Given the description of an element on the screen output the (x, y) to click on. 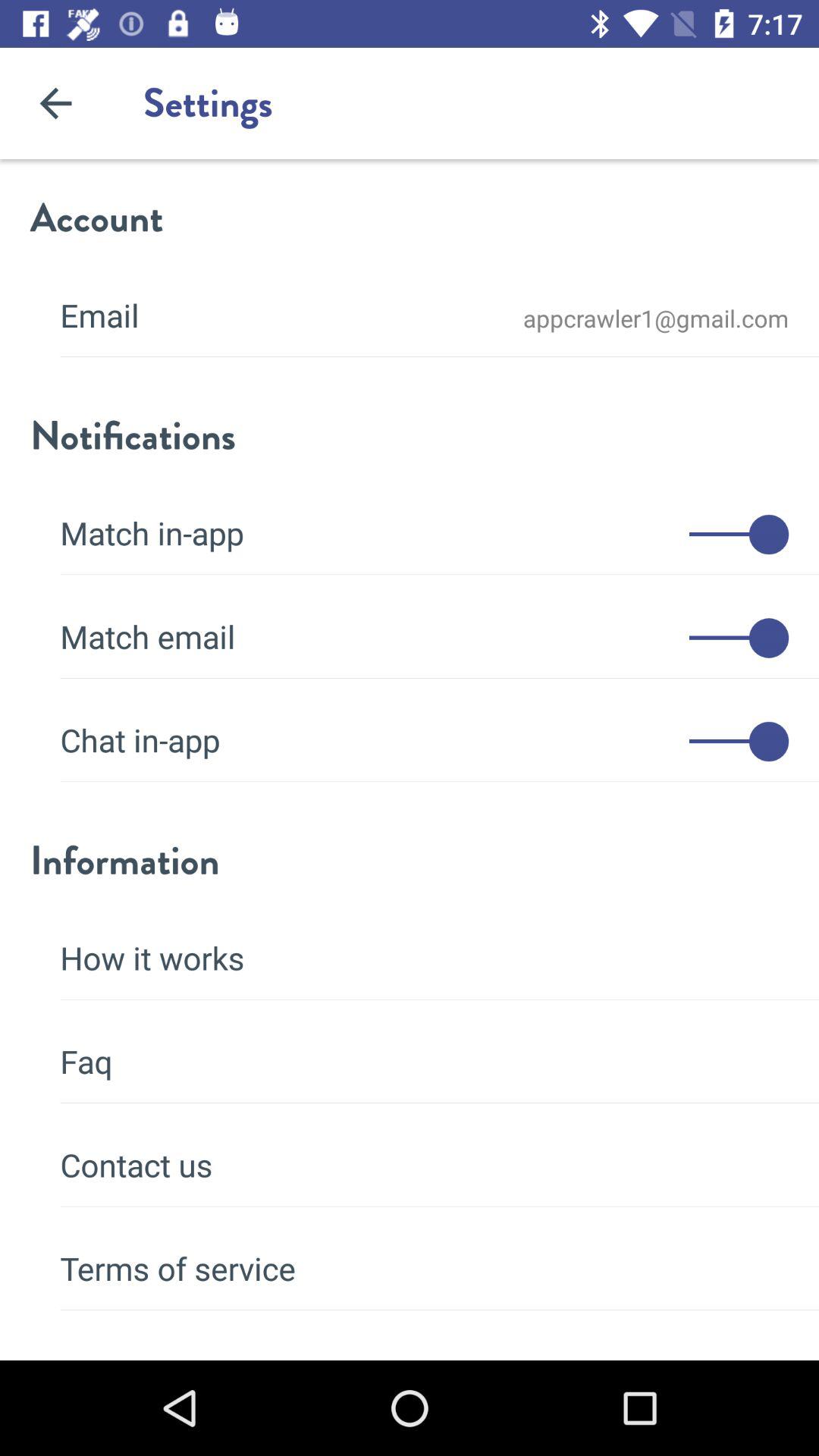
select the switch which is left to chat inapp (738, 741)
click on the text which says contact us which is below the faq (424, 1155)
select the slider button which is before match inapp option (738, 534)
click on the text terms of service (424, 1258)
